Given the description of an element on the screen output the (x, y) to click on. 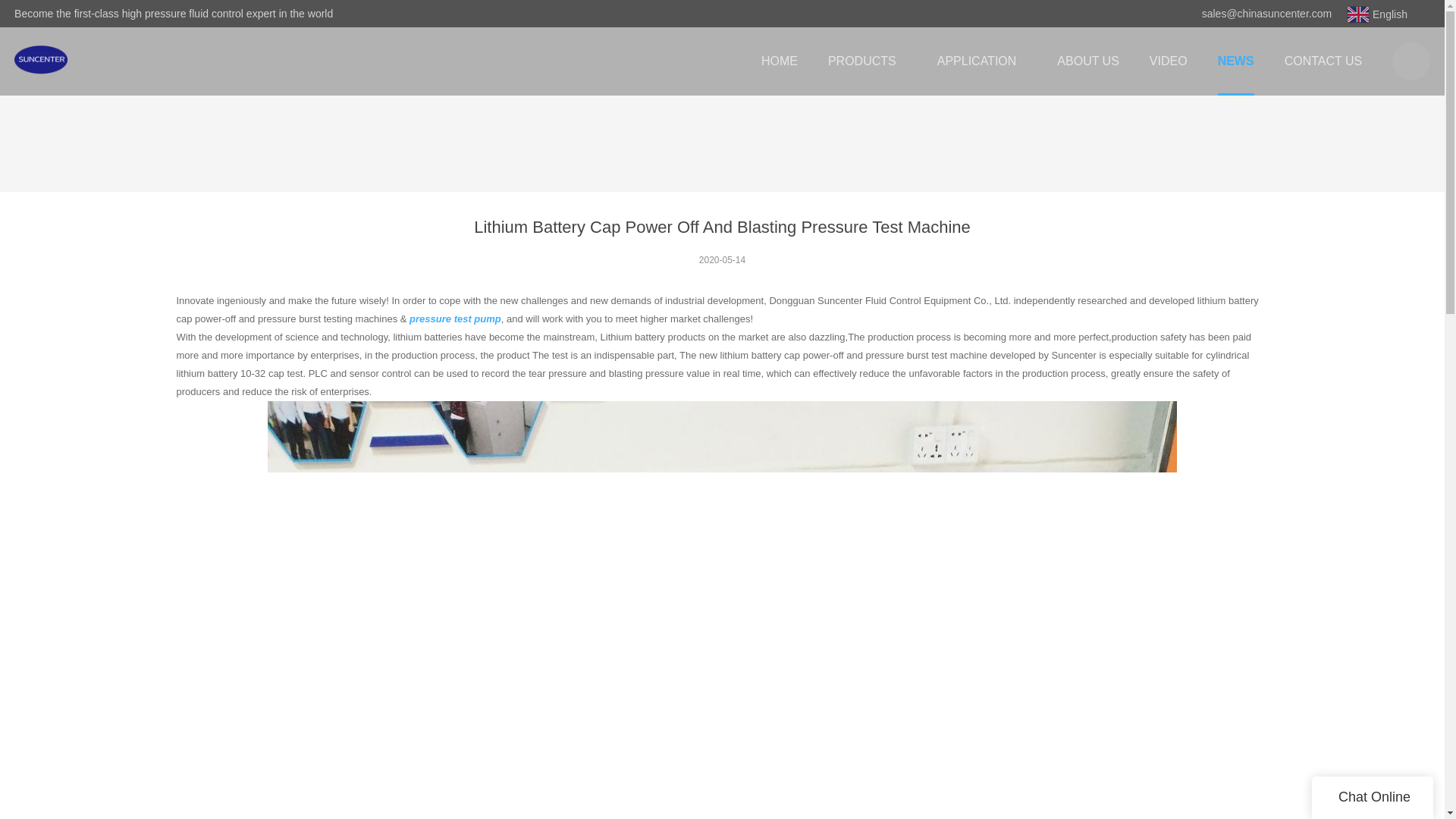
pressure test pump (454, 318)
PRODUCTS (866, 61)
APPLICATION (981, 61)
HOME (778, 61)
